Given the description of an element on the screen output the (x, y) to click on. 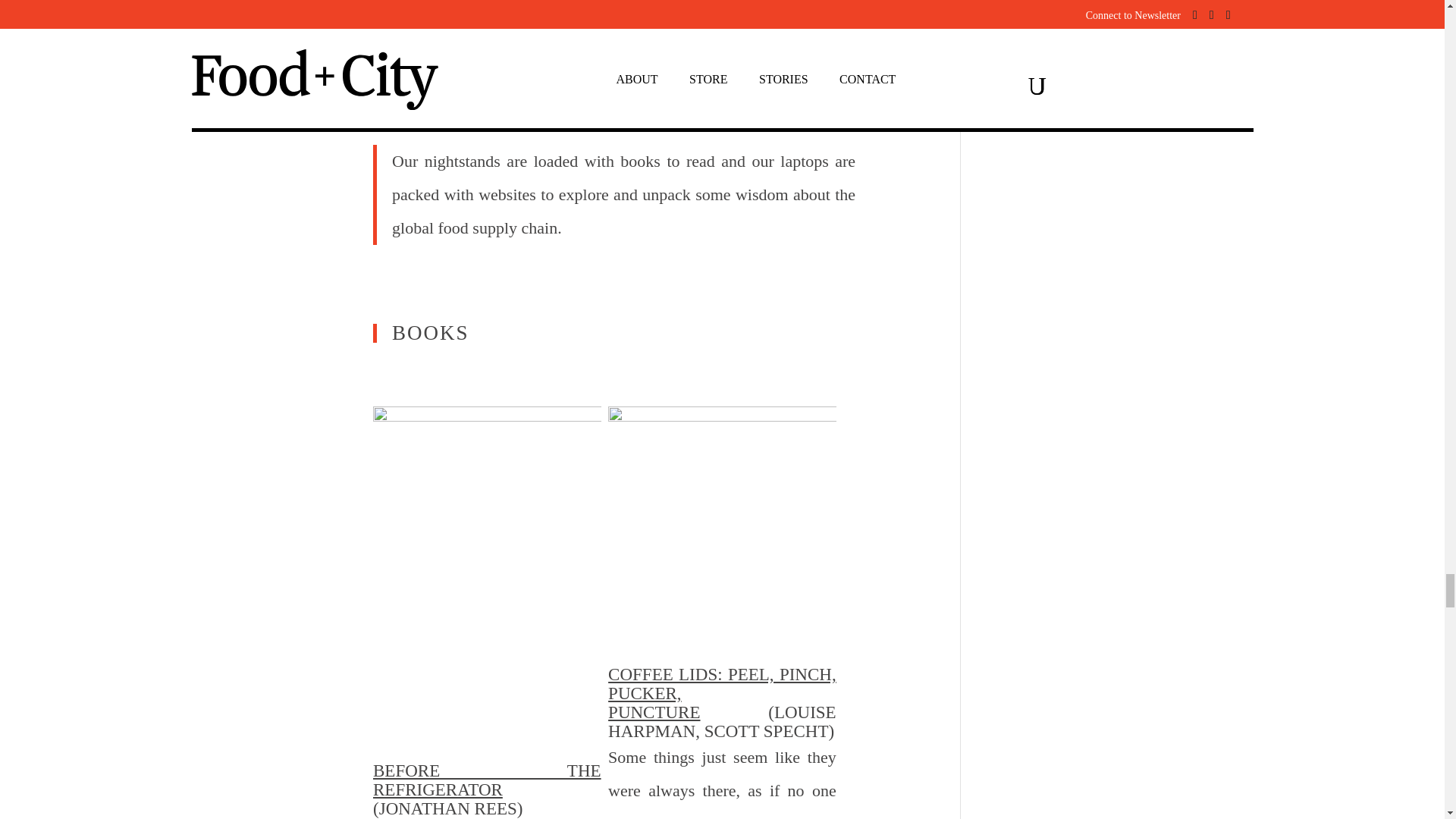
Posts by Cory Leahy (350, 18)
